Given the description of an element on the screen output the (x, y) to click on. 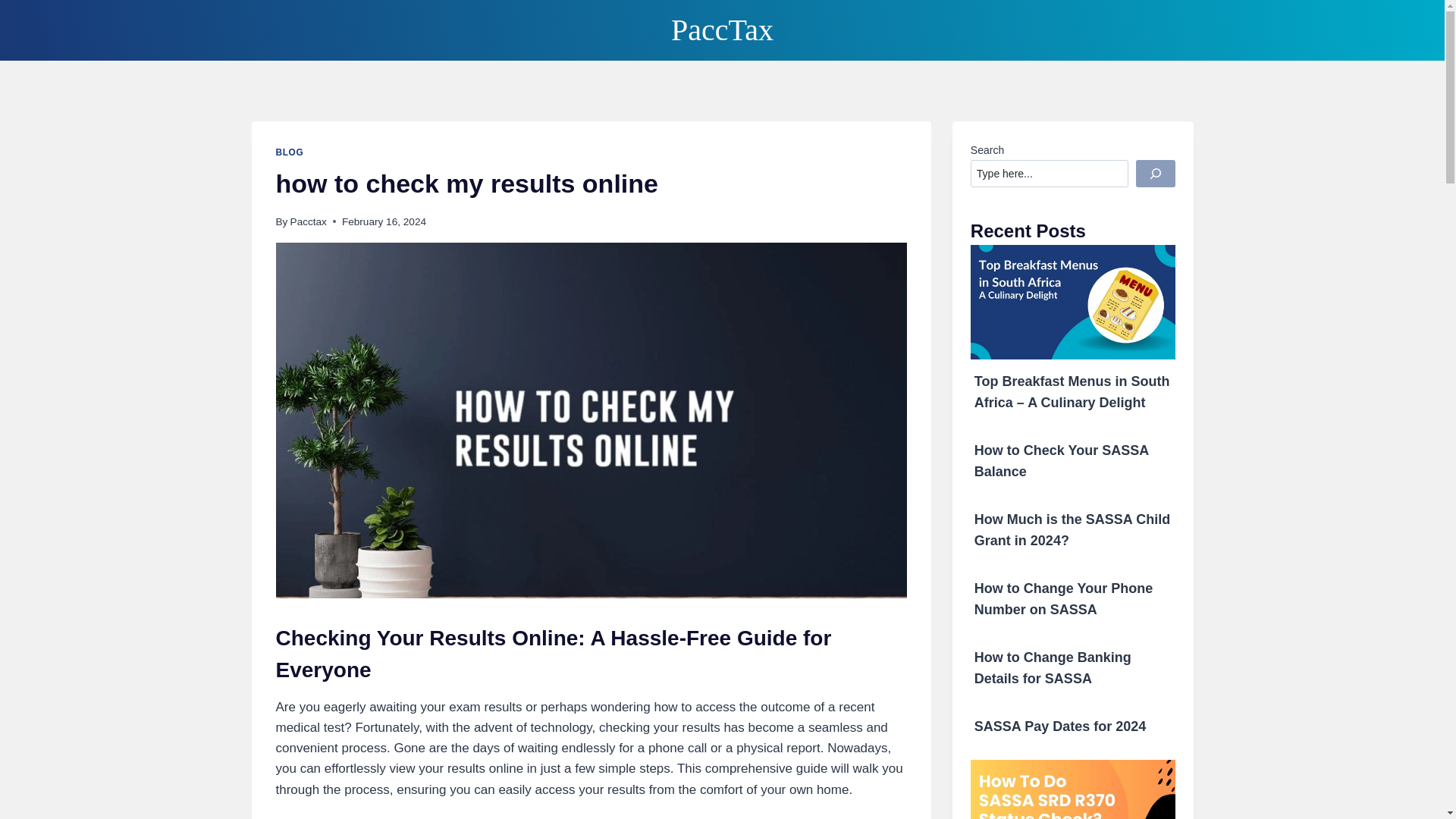
Pacctax (307, 221)
PaccTax (722, 30)
BLOG (290, 152)
